Given the description of an element on the screen output the (x, y) to click on. 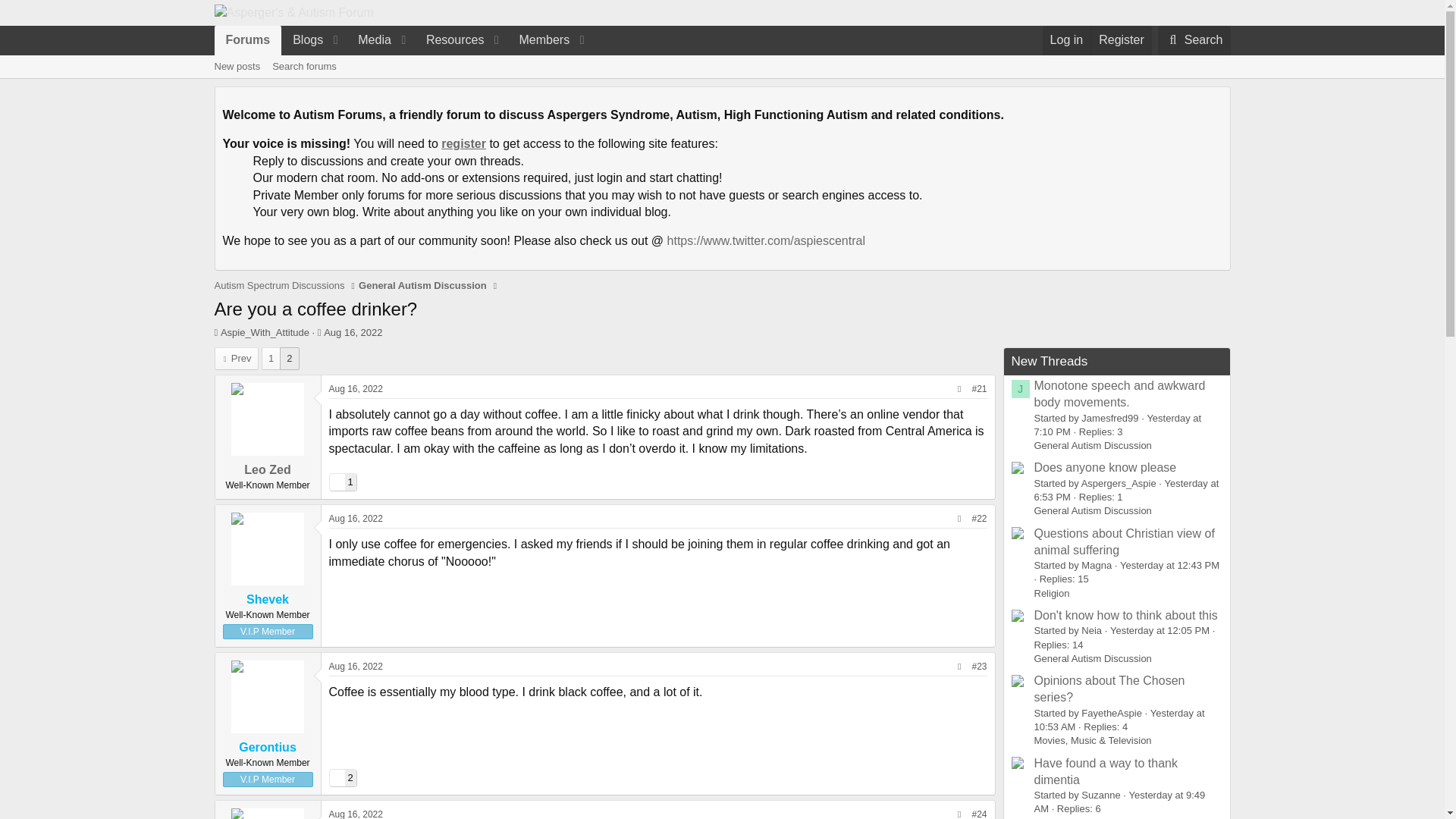
Like (336, 481)
Aug 16, 2022 at 4:49 AM (722, 66)
Members (352, 332)
Register (538, 39)
Aug 16, 2022 at 11:44 PM (1120, 39)
Aug 16, 2022 at 8:47 PM (355, 814)
Log in (355, 518)
Funny (1066, 39)
New posts (336, 777)
Aug 16, 2022 at 6:37 PM (237, 66)
Blogs (355, 388)
Funny (302, 39)
Media (342, 777)
